Given the description of an element on the screen output the (x, y) to click on. 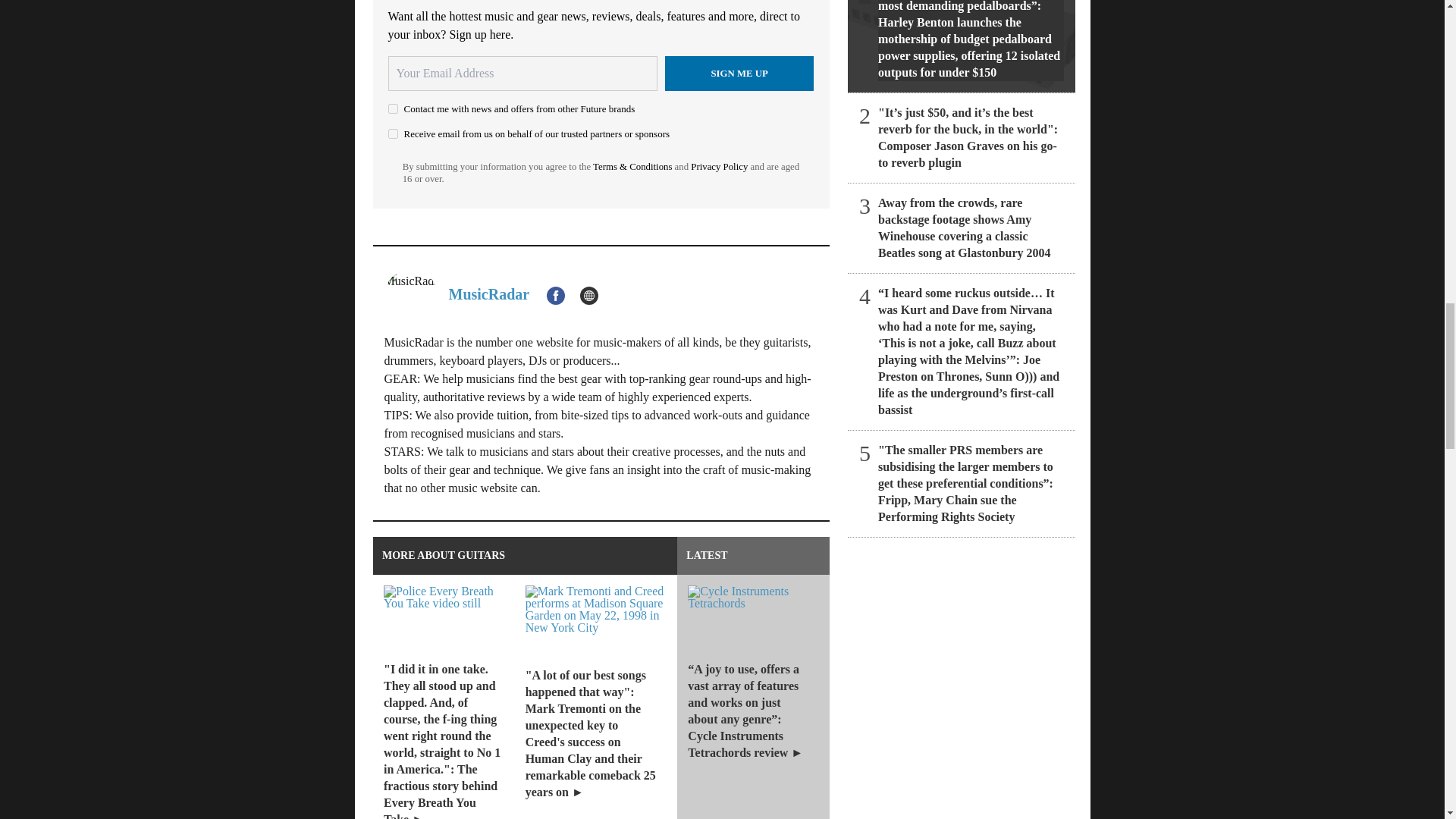
on (392, 133)
on (392, 108)
Sign me up (739, 73)
